Given the description of an element on the screen output the (x, y) to click on. 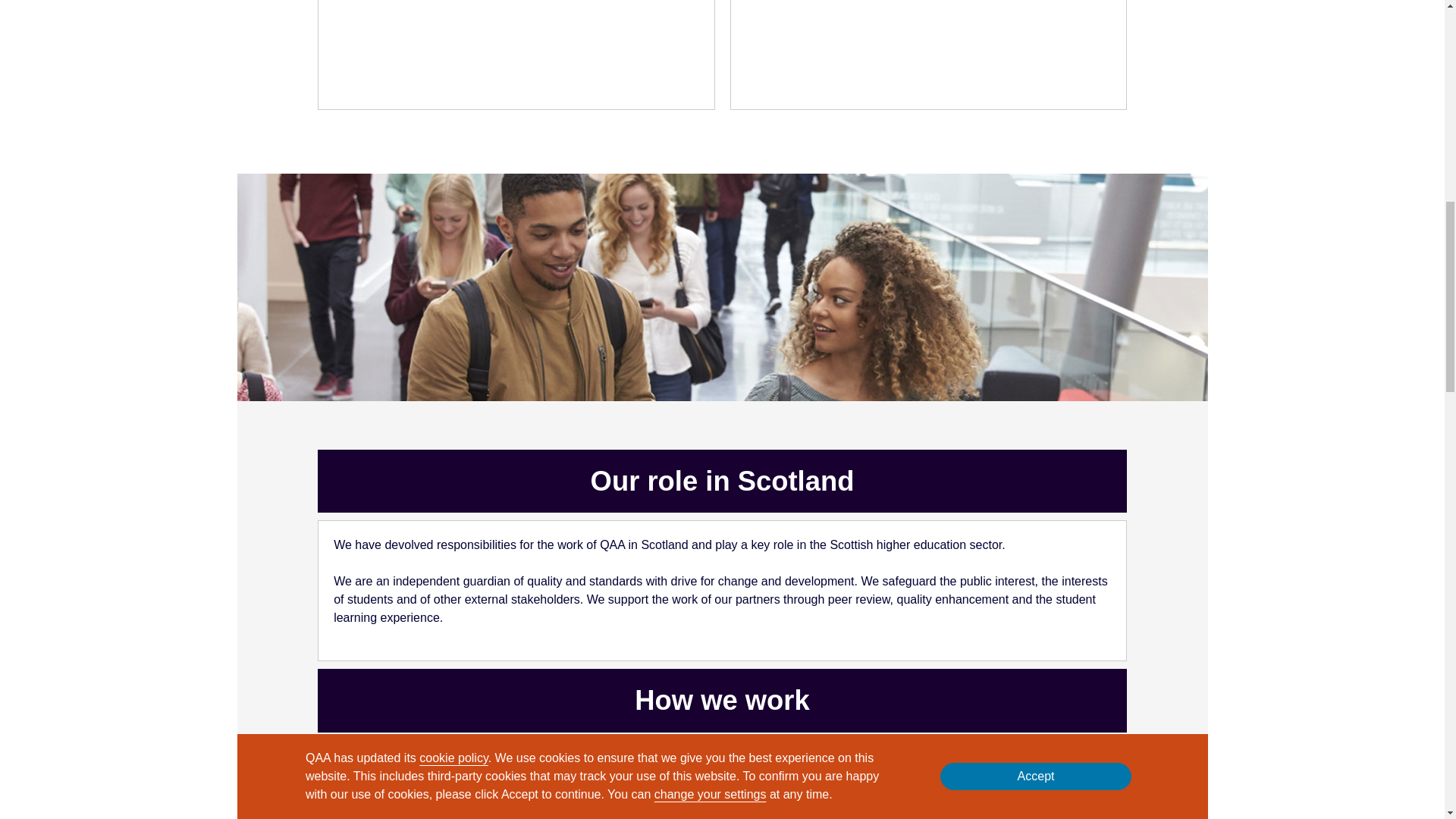
YouTube video: The Work of QAA Scotland (515, 47)
YouTube video: Student Engagement at QAA Scotland (927, 47)
